Given the description of an element on the screen output the (x, y) to click on. 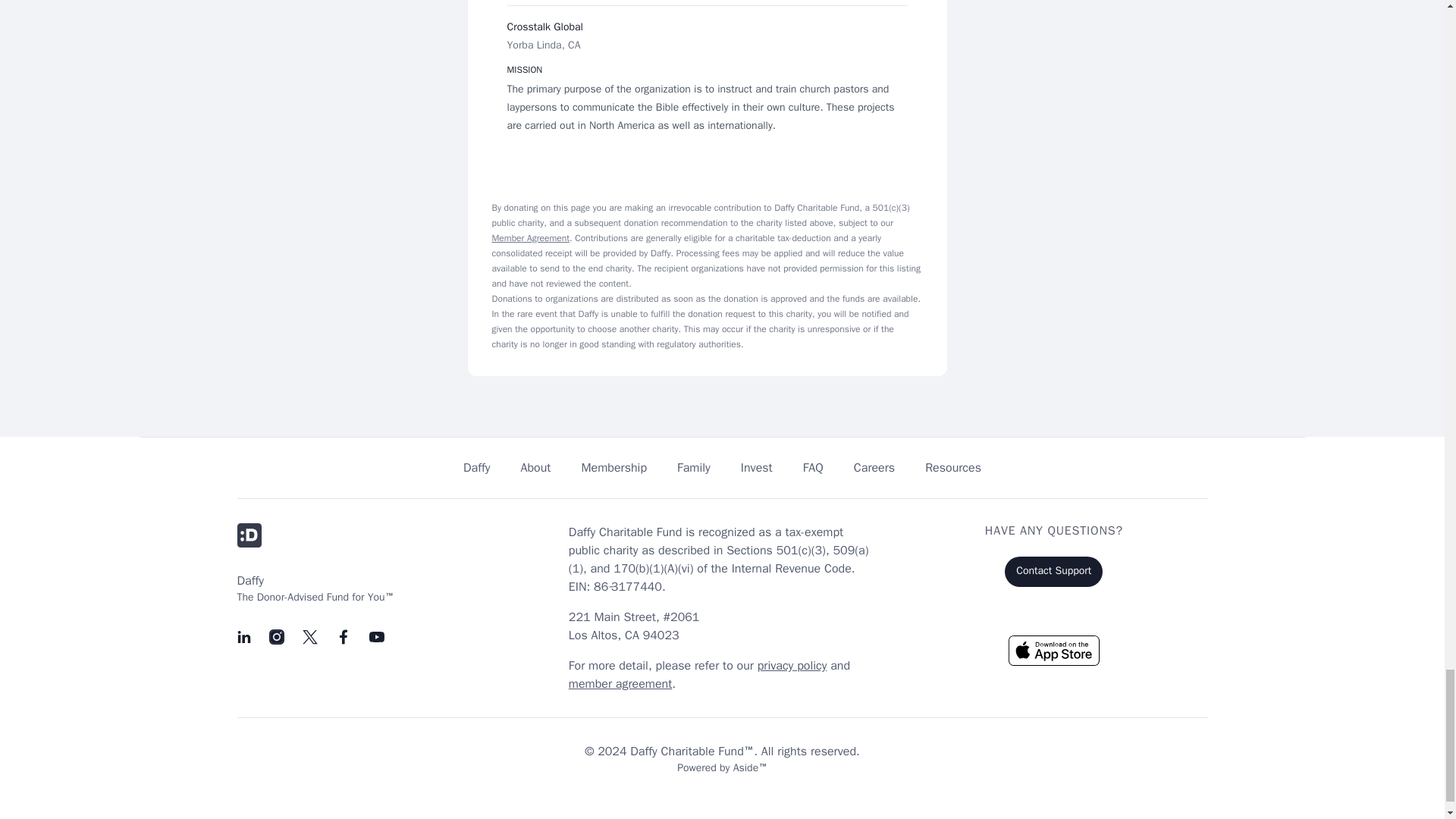
Member Agreement (530, 237)
